Given the description of an element on the screen output the (x, y) to click on. 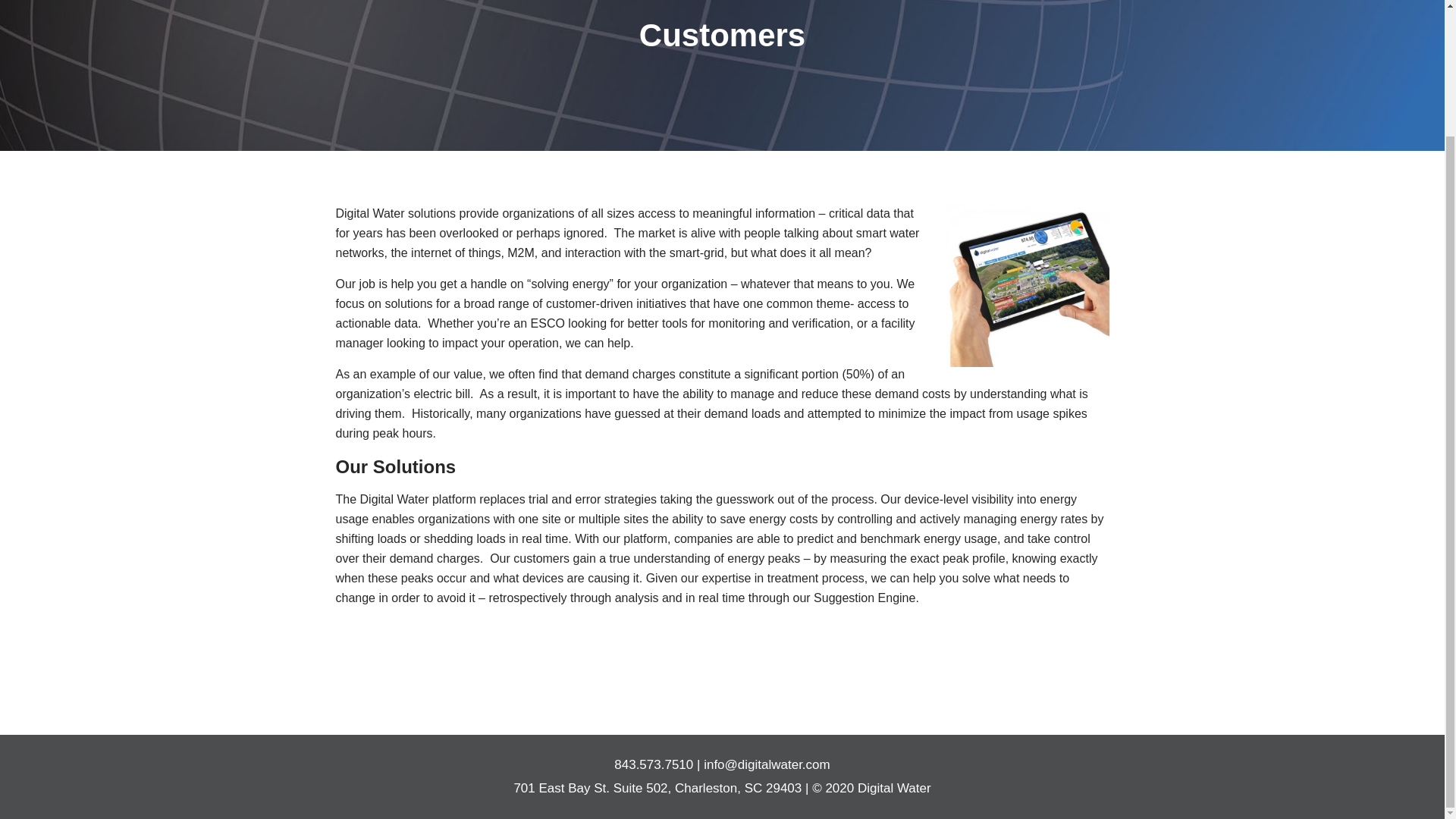
843.573.7510 (653, 764)
